Given the description of an element on the screen output the (x, y) to click on. 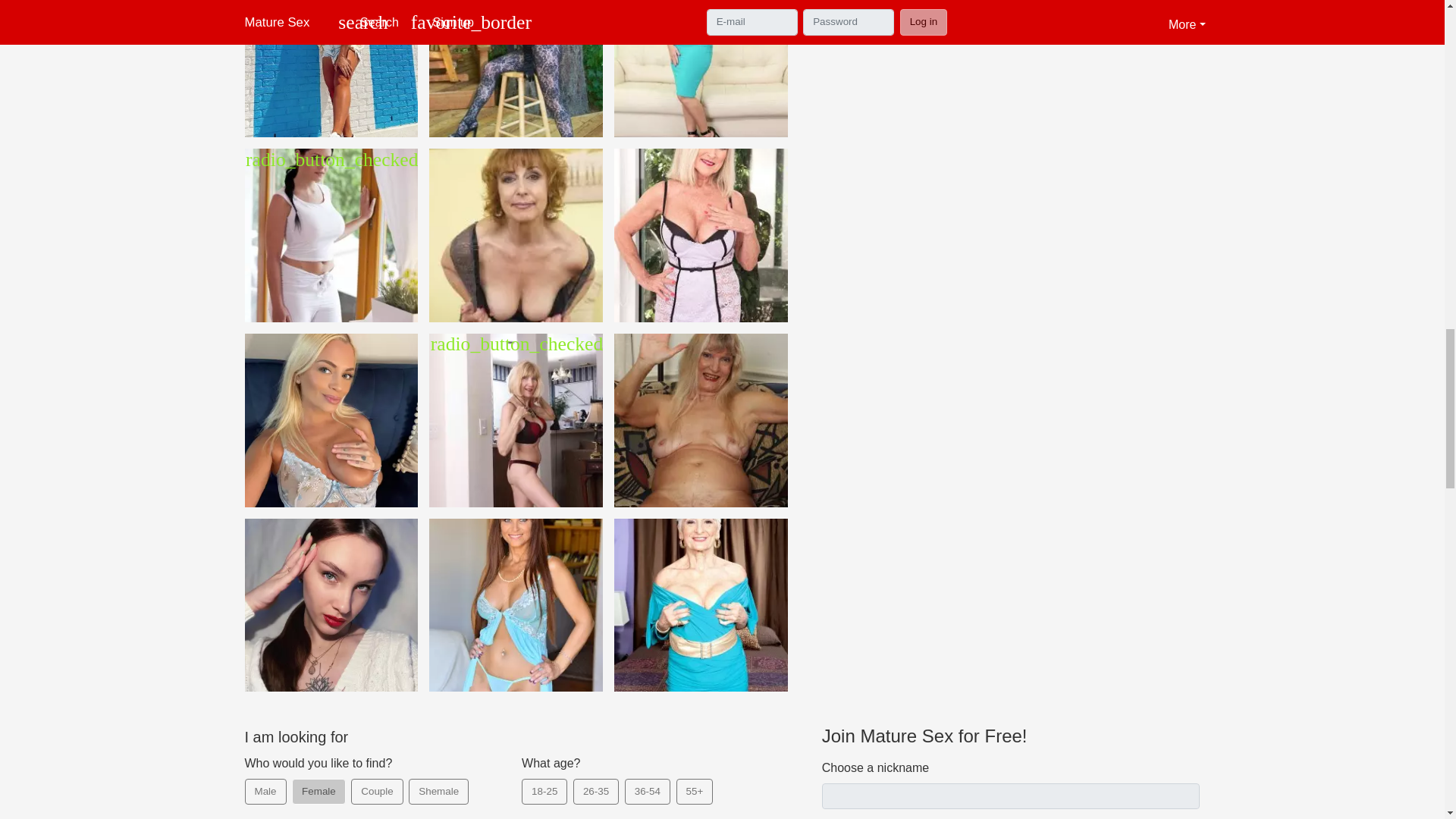
female (296, 783)
36-54 (629, 783)
26-35 (578, 783)
shemale (414, 783)
18-25 (526, 783)
male (248, 783)
couple (355, 783)
